Given the description of an element on the screen output the (x, y) to click on. 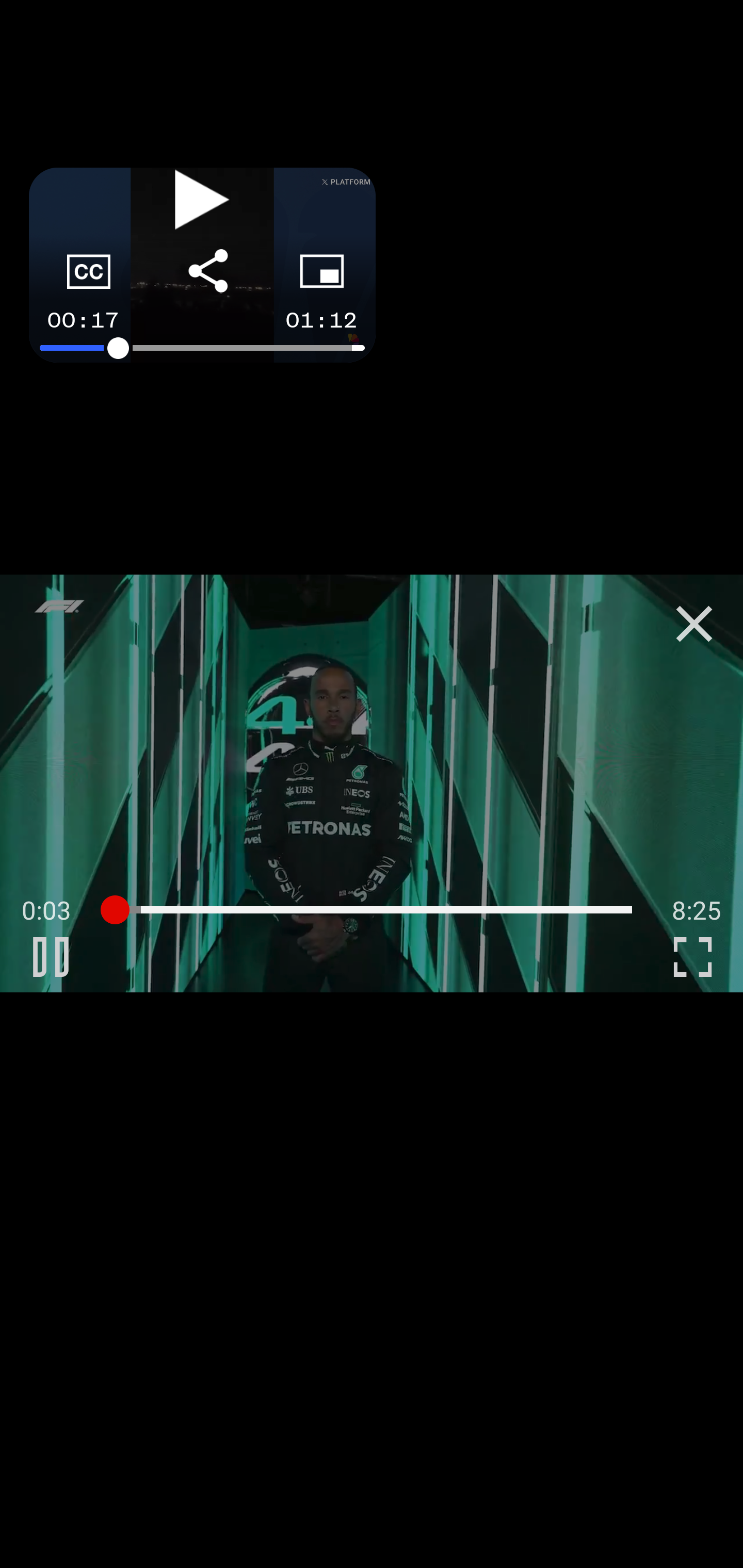
 Close (693, 623)
B Pause (50, 956)
C Enter Fullscreen (692, 956)
